Given the description of an element on the screen output the (x, y) to click on. 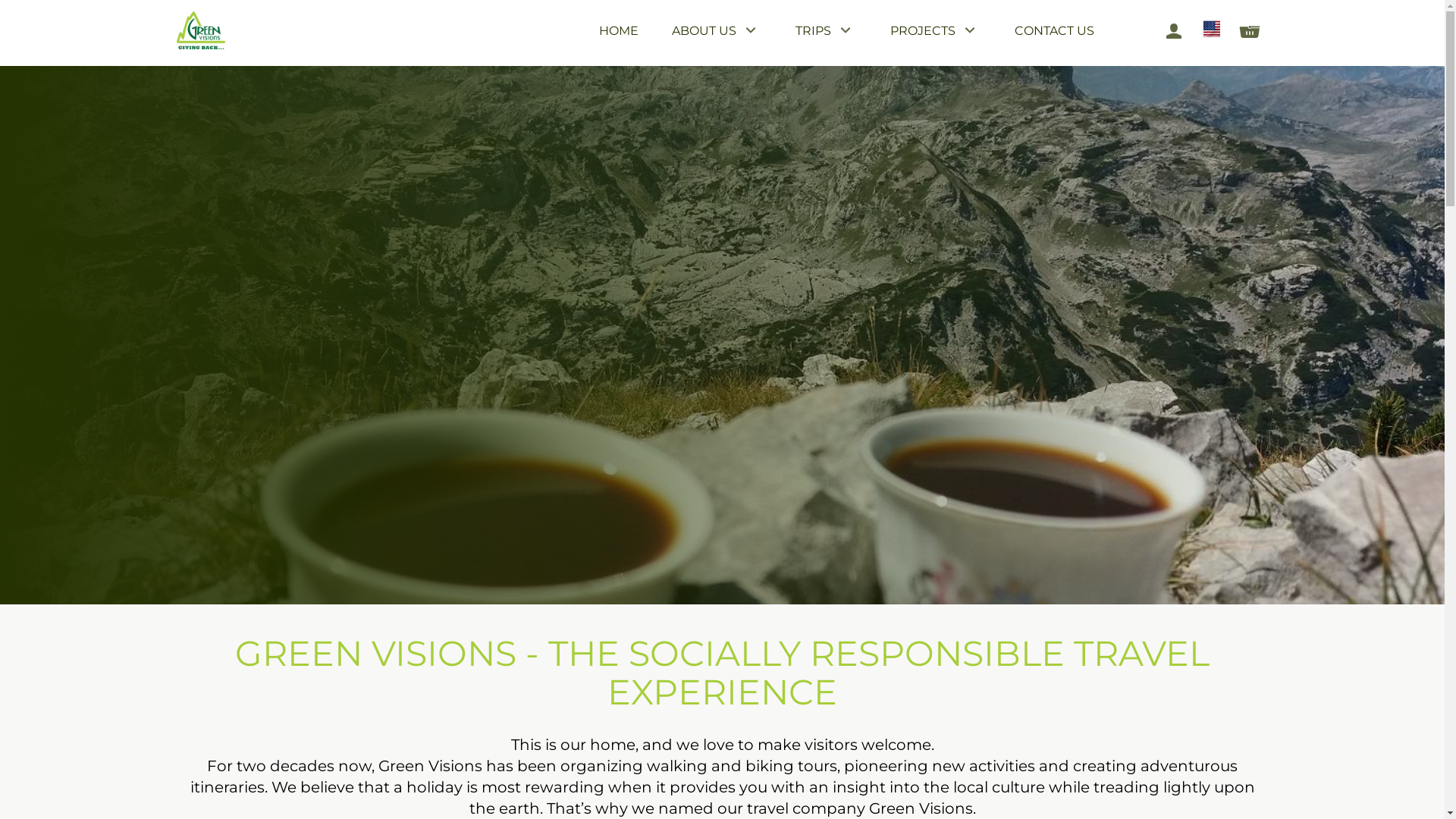
TRIPS Element type: text (825, 32)
ABOUT US Element type: text (716, 32)
CONTACT US Element type: text (1054, 32)
HOME Element type: text (618, 32)
PROJECTS Element type: text (935, 32)
